Given the description of an element on the screen output the (x, y) to click on. 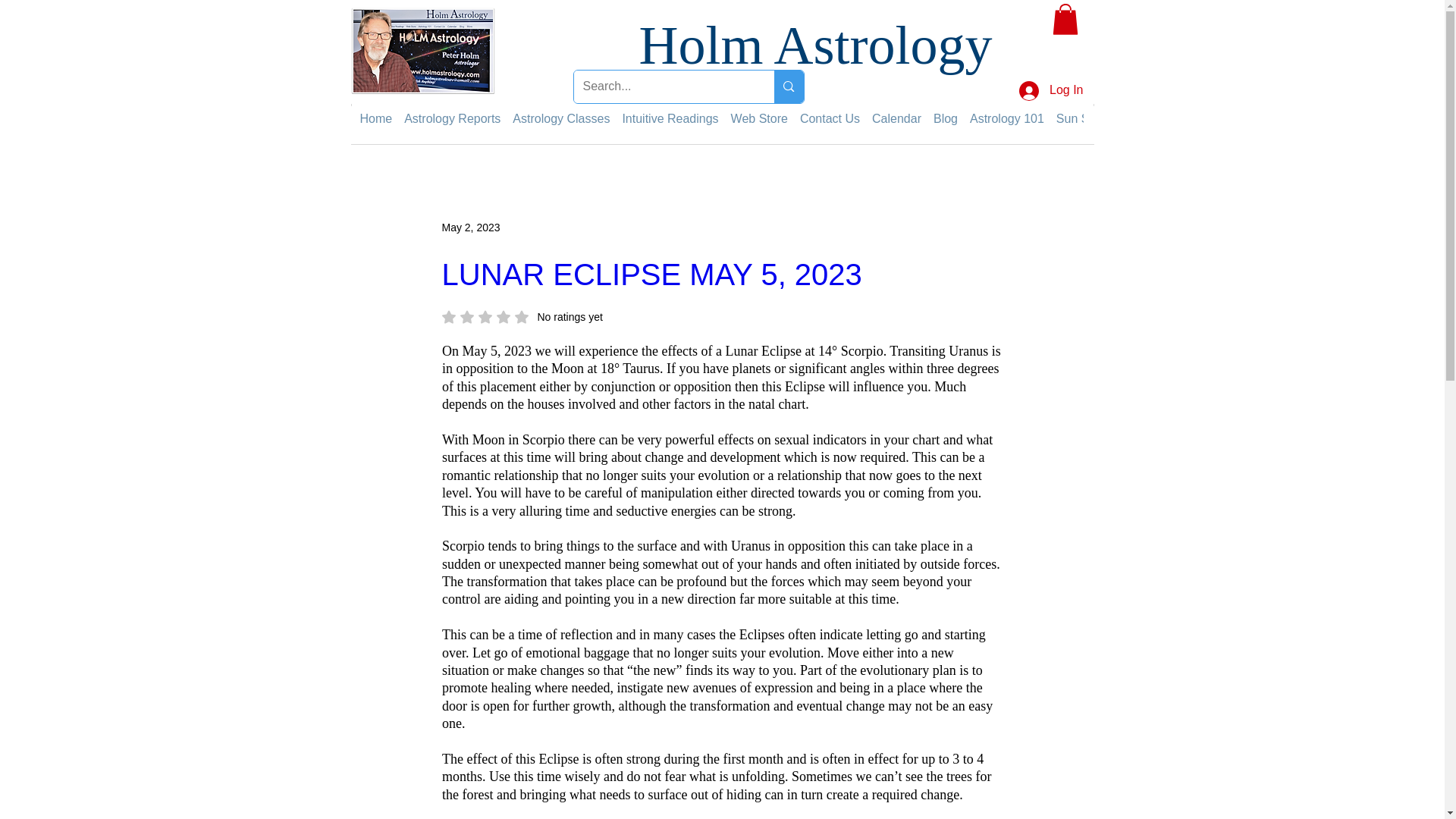
Astrology Classes (561, 118)
The Planets (1156, 118)
Contact Us (829, 118)
Intuitive Readings (669, 118)
Blog (945, 118)
Astrology Reports (452, 118)
Log In (1051, 90)
Calendar (896, 118)
Web Store (758, 118)
Home (375, 118)
Sun Signs (1084, 118)
May 2, 2023 (470, 227)
Astrology 101 (1006, 118)
